Given the description of an element on the screen output the (x, y) to click on. 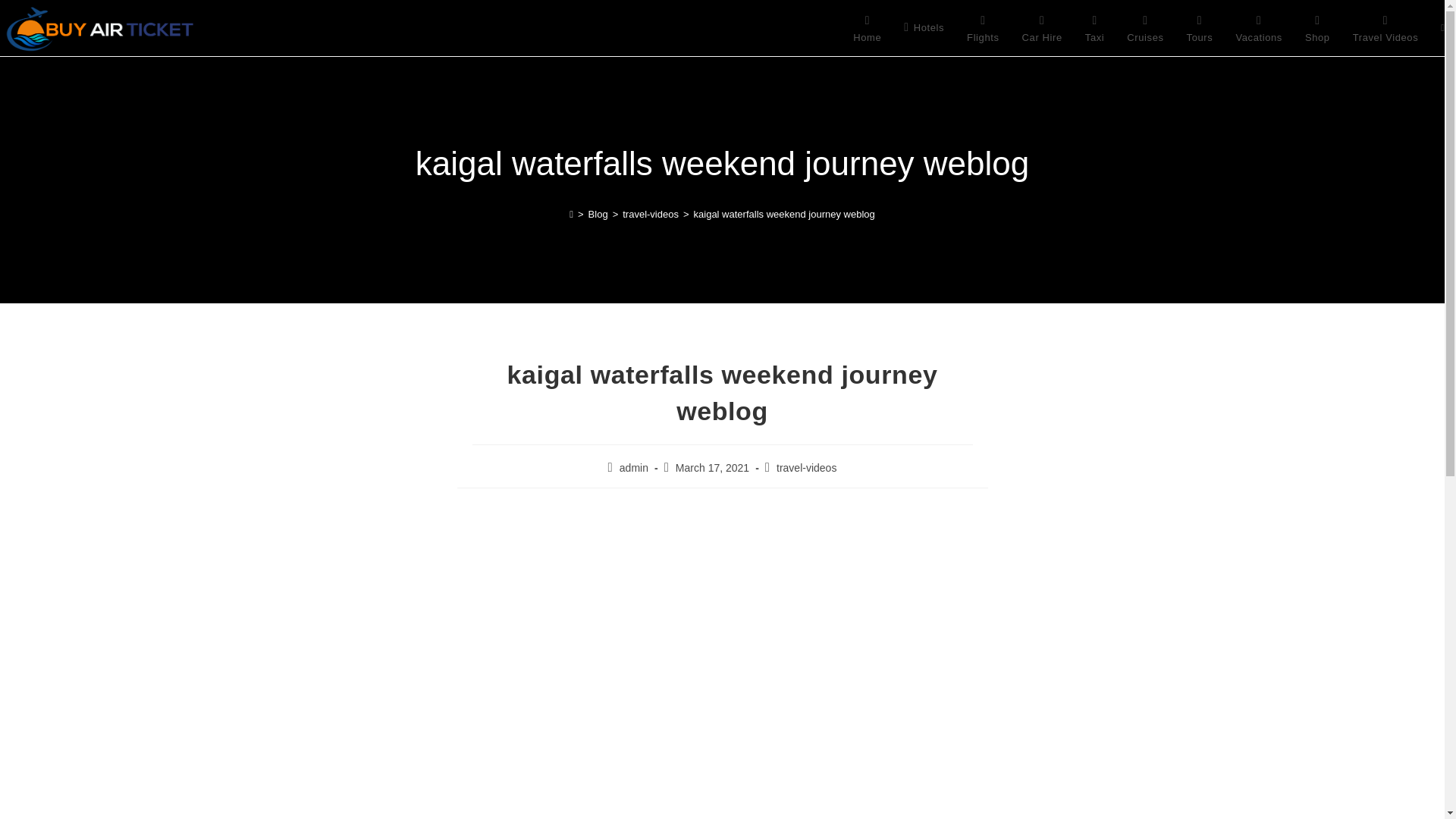
Blog (598, 214)
Submit (769, 674)
Flights (982, 28)
travel-videos (650, 214)
www.buyairticket.co.uk (601, 676)
Car Hire (1042, 28)
Travel Videos (1384, 28)
travel-videos (805, 467)
Cruises (1144, 28)
kaigal waterfalls weekend journey weblog (784, 214)
